Given the description of an element on the screen output the (x, y) to click on. 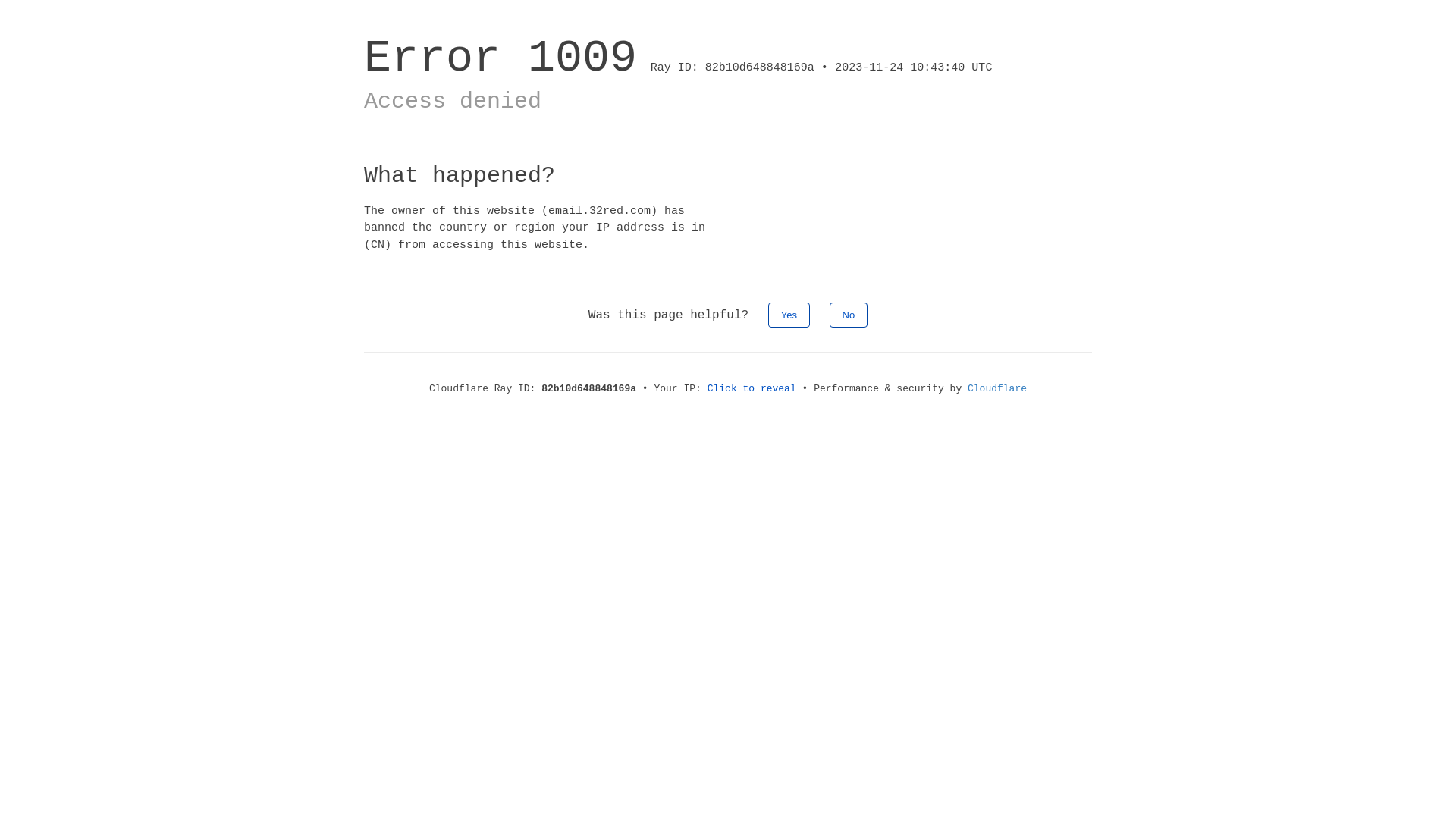
No Element type: text (848, 314)
Yes Element type: text (788, 314)
Cloudflare Element type: text (996, 388)
Click to reveal Element type: text (751, 388)
